Given the description of an element on the screen output the (x, y) to click on. 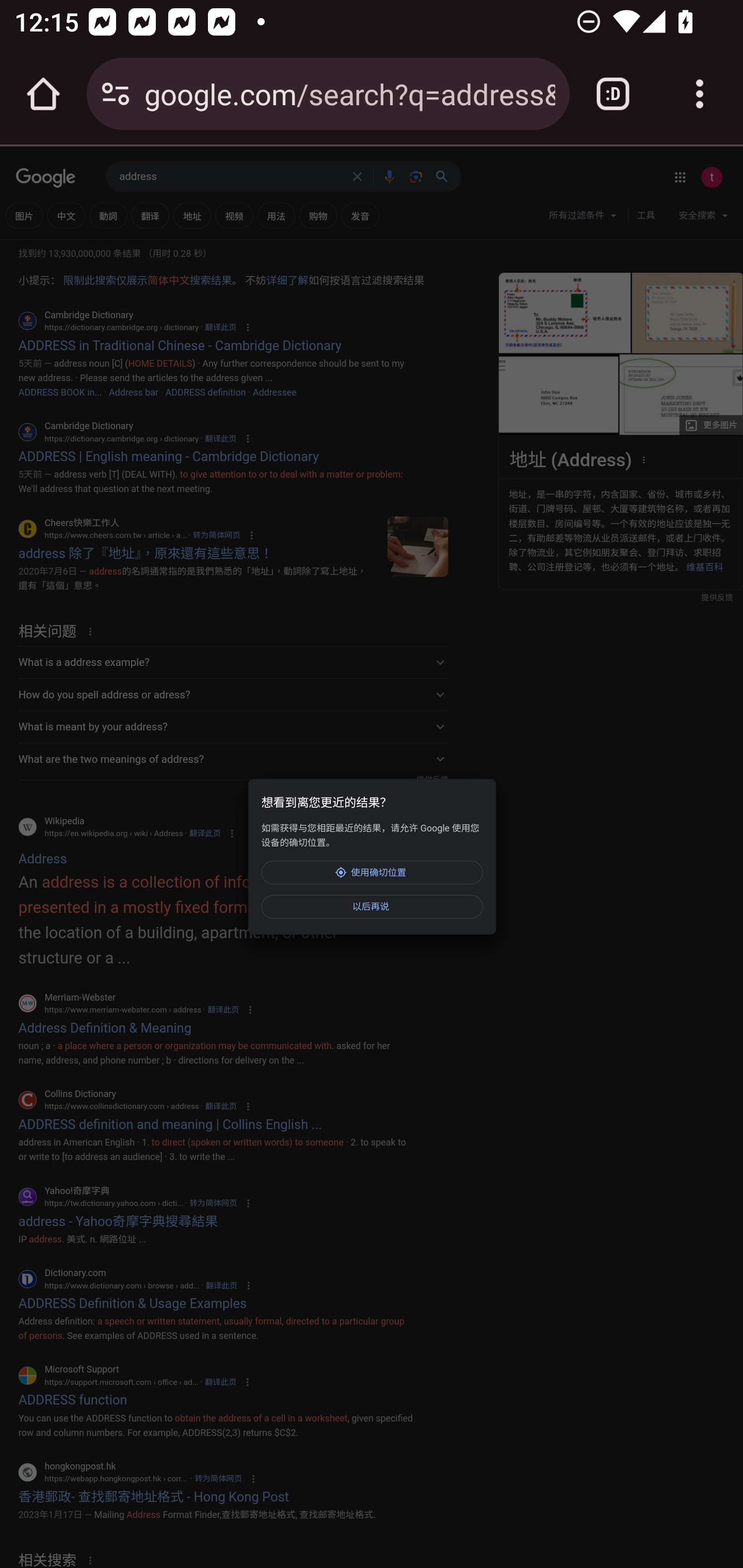
Open the home page (43, 93)
Connection is secure (115, 93)
Switch or close tabs (612, 93)
Customize and control Google Chrome (699, 93)
使用确切位置 (371, 872)
以后再说 (371, 905)
